Given the description of an element on the screen output the (x, y) to click on. 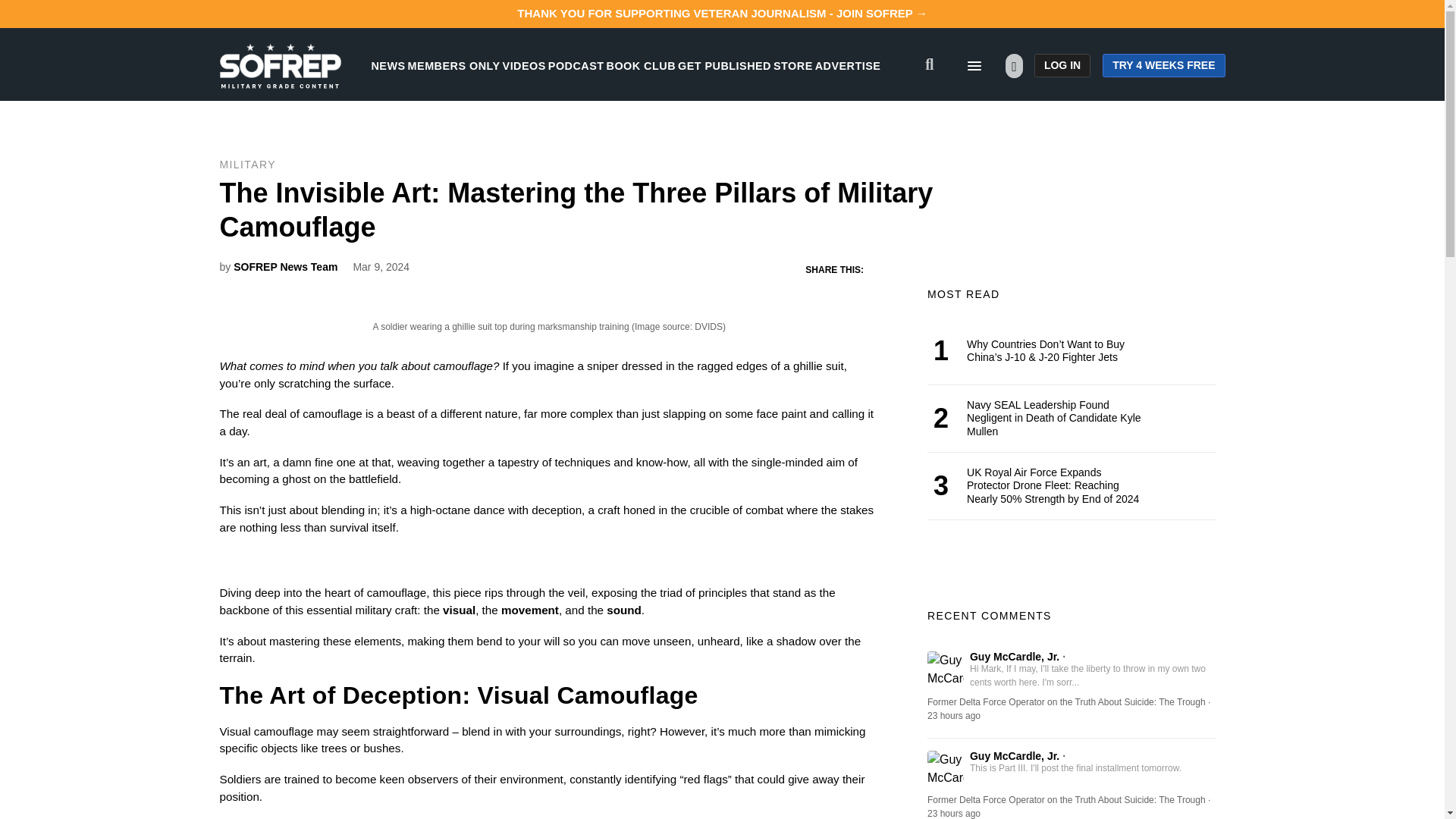
GET PUBLISHED (724, 65)
ADVERTISE (847, 65)
PODCAST (576, 65)
TRY 4 WEEKS FREE (1163, 65)
NEWS (388, 65)
MEMBERS ONLY (453, 65)
STORE (792, 65)
VIDEOS (524, 65)
BOOK CLUB (641, 65)
LOG IN (1061, 65)
